Given the description of an element on the screen output the (x, y) to click on. 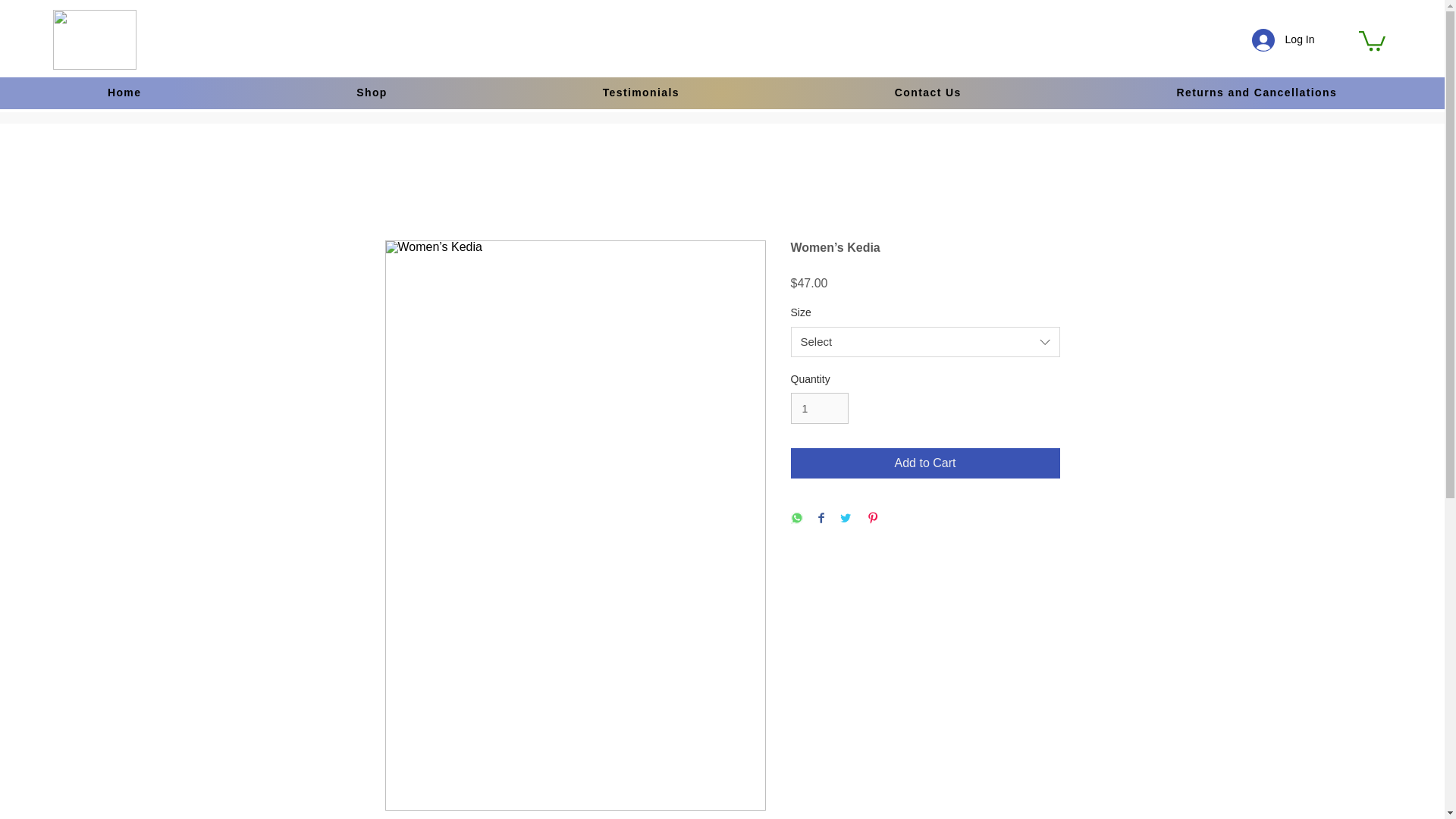
1 (818, 408)
Shop (371, 92)
Add to Cart (924, 462)
Contact Us (927, 92)
Select (924, 341)
Log In (1282, 40)
Home (124, 92)
Testimonials (641, 92)
